Given the description of an element on the screen output the (x, y) to click on. 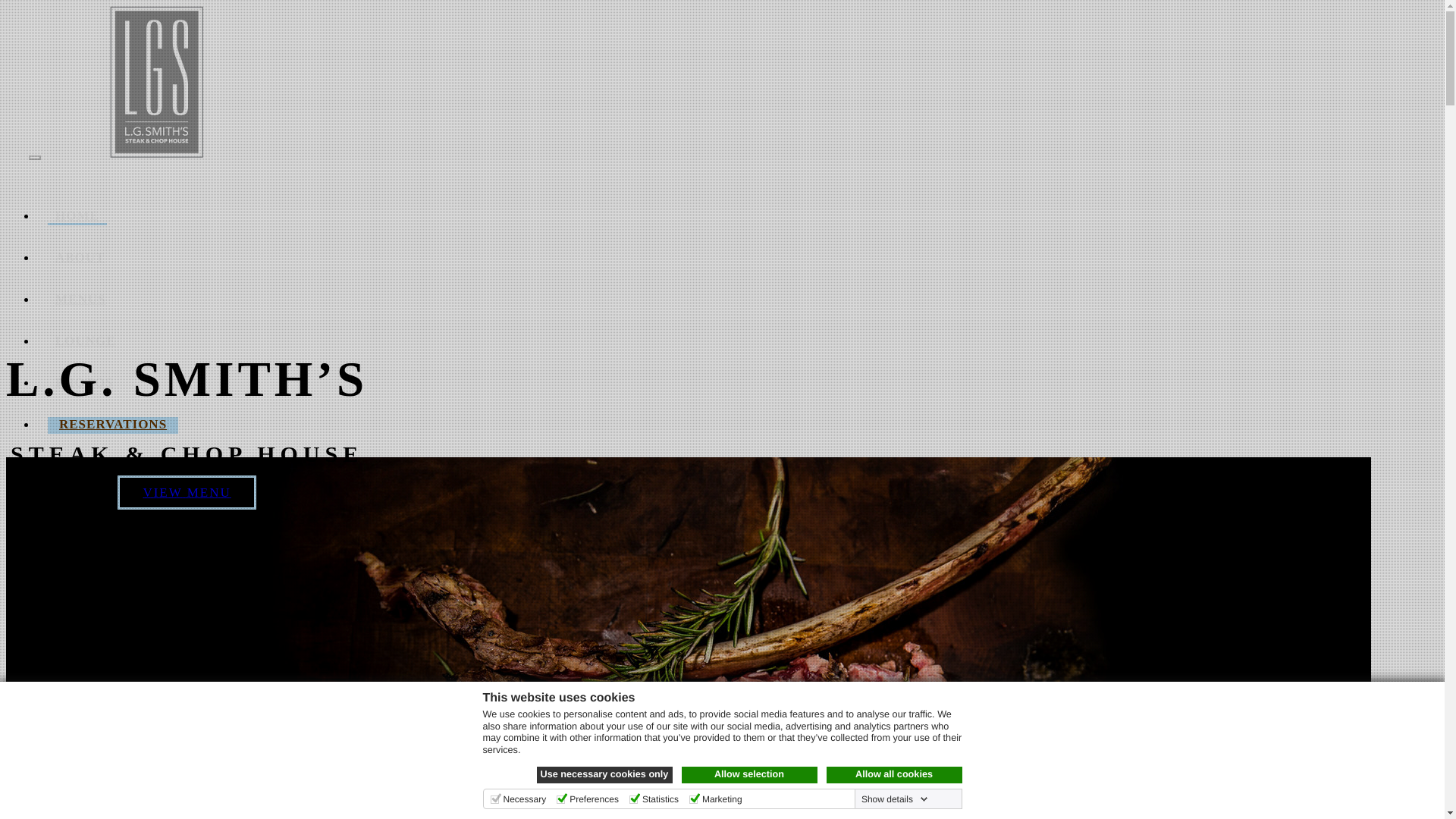
VIEW MENU (186, 492)
LOUNGE (85, 340)
Show details (895, 799)
Allow all cookies (894, 774)
ABOUT (80, 257)
RESERVATIONS (112, 425)
Toggle navigation (34, 157)
Use necessary cookies only (604, 774)
MENUS (80, 298)
HOME (77, 216)
Allow selection (748, 774)
